Given the description of an element on the screen output the (x, y) to click on. 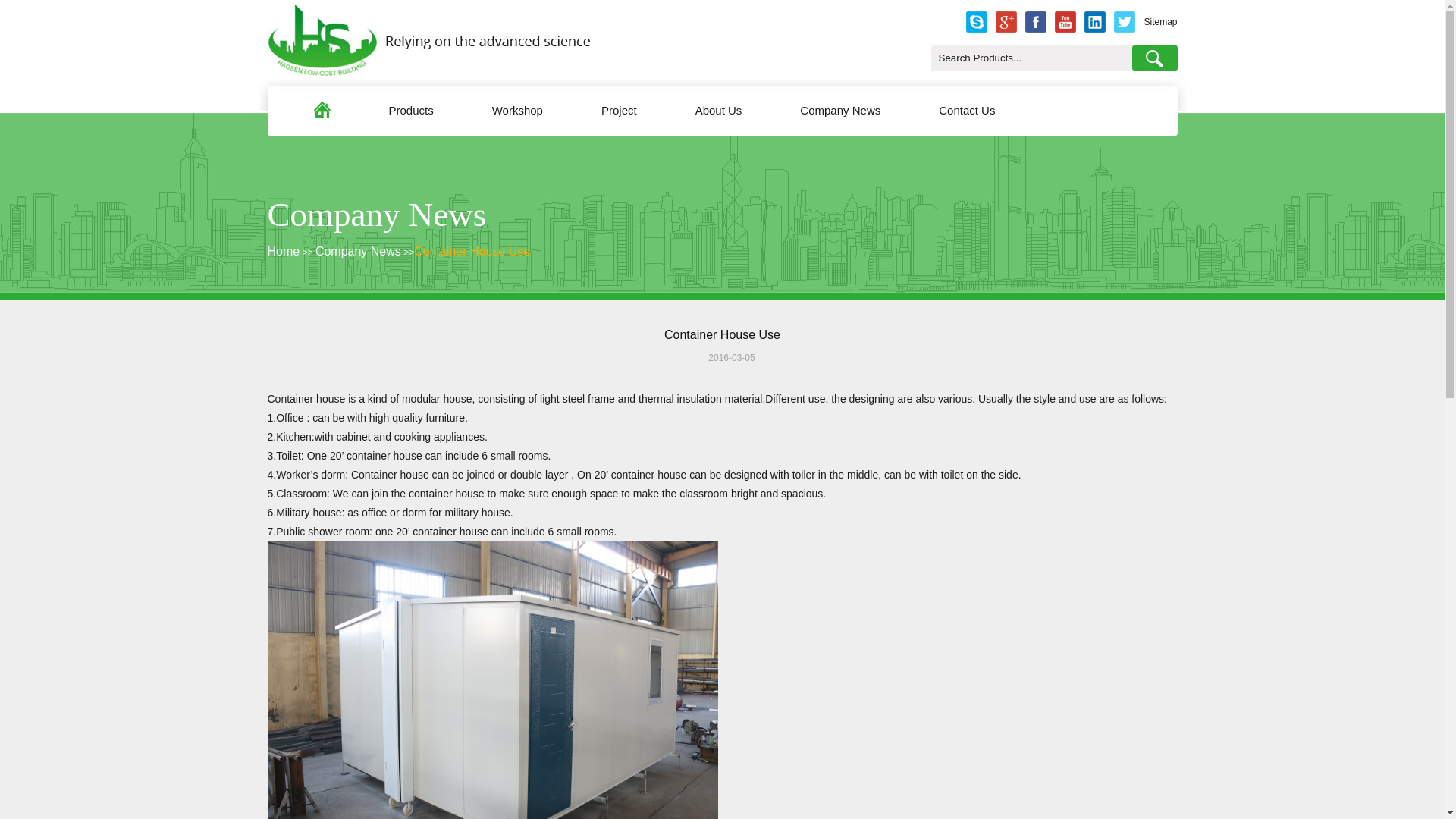
Container Modular House (491, 680)
Company News (839, 108)
Contact Us (966, 108)
Sitemap (1159, 21)
Project (619, 108)
Hebei Haosen Leituo Machinery Technology Co.,Ltd (427, 72)
Products (410, 108)
Workshop (517, 108)
About Us (718, 108)
Products (410, 108)
Search Products... (1031, 58)
